Given the description of an element on the screen output the (x, y) to click on. 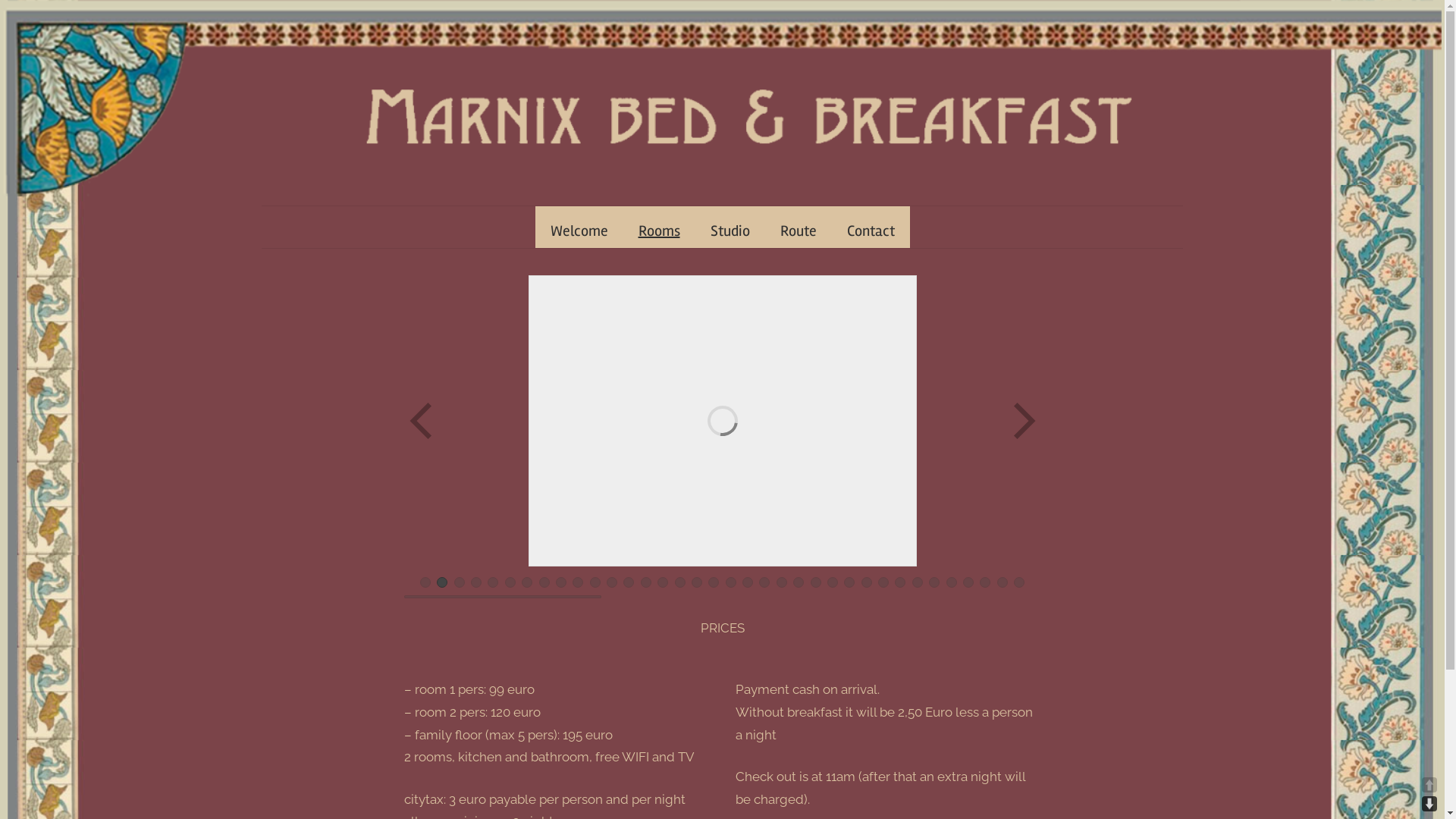
DOWN Element type: text (1429, 803)
Contact Element type: text (870, 230)
Rooms Element type: text (659, 230)
Studio Element type: text (729, 230)
Route Element type: text (797, 230)
Welcome Element type: text (579, 230)
UP Element type: text (1429, 784)
